Given the description of an element on the screen output the (x, y) to click on. 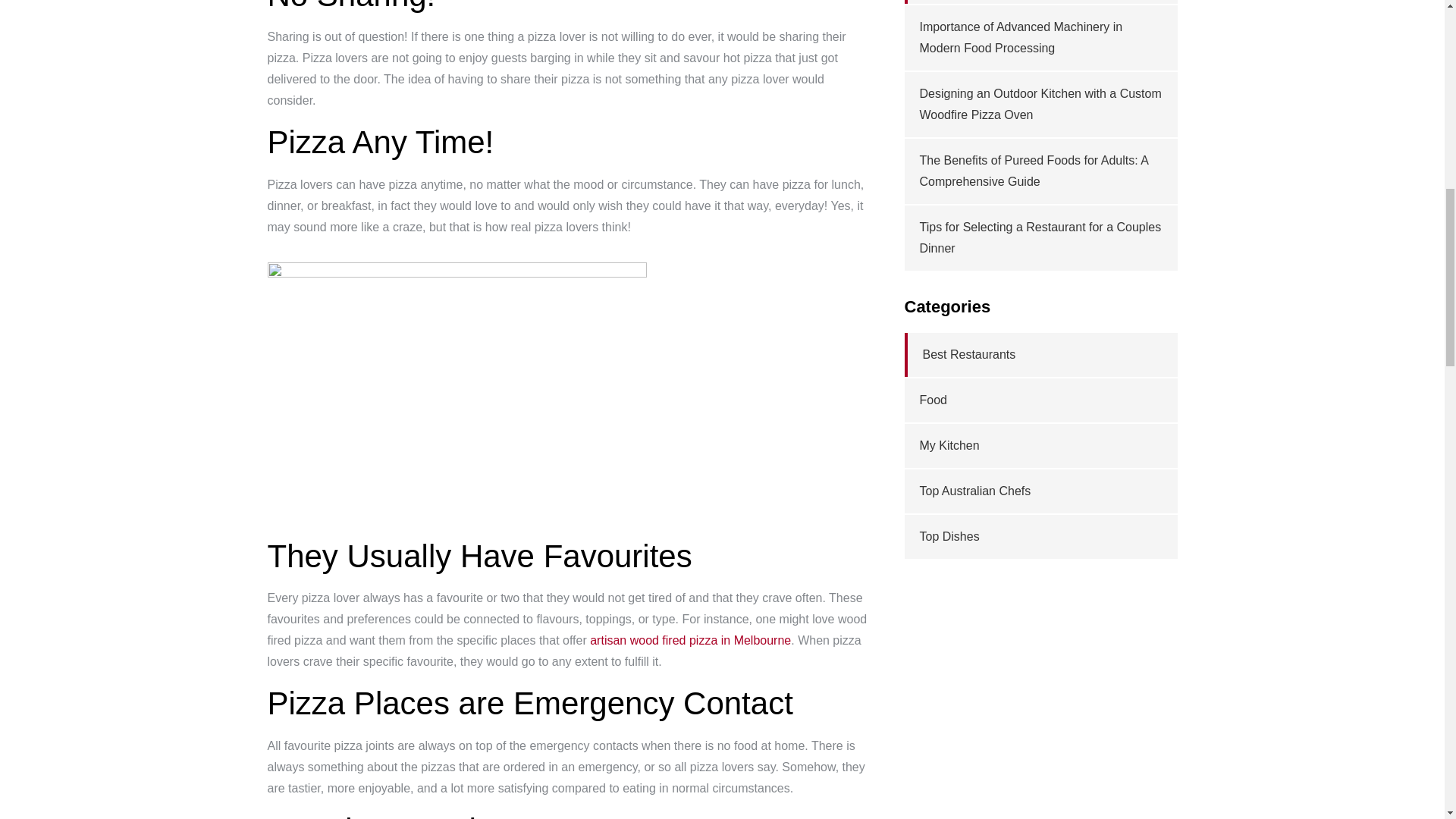
Food (932, 399)
My Kitchen (948, 445)
Best Restaurants (967, 354)
Tips for Selecting a Restaurant for a Couples Dinner (1039, 237)
Top Dishes (948, 535)
Top Australian Chefs (974, 490)
artisan wood fired pizza in Melbourne (689, 640)
Importance of Advanced Machinery in Modern Food Processing (1020, 37)
